Given the description of an element on the screen output the (x, y) to click on. 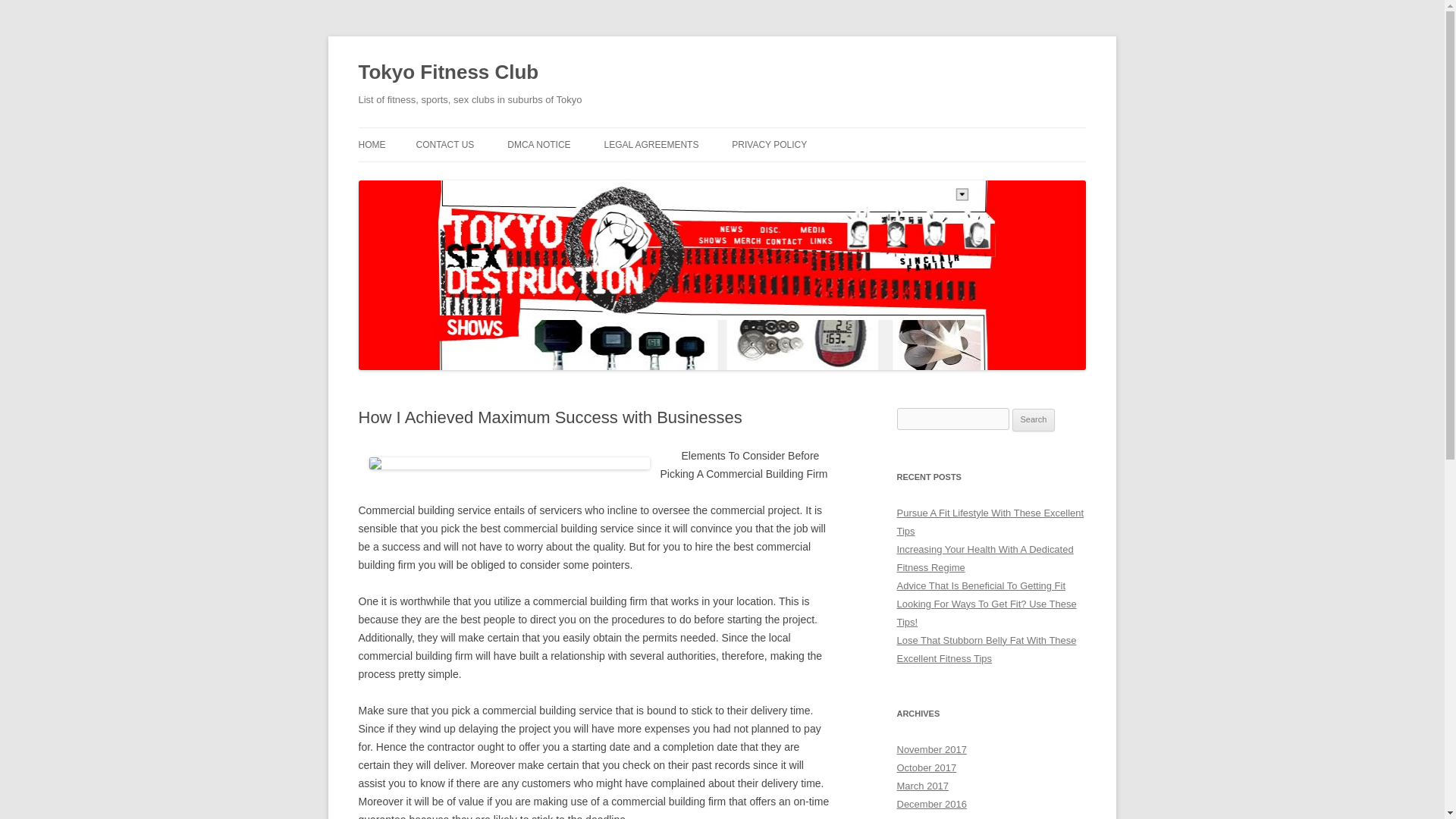
Increasing Your Health With A Dedicated Fitness Regime (984, 558)
Advice That Is Beneficial To Getting Fit (980, 585)
October 2017 (926, 767)
March 2017 (922, 785)
Search (1033, 419)
October 2014 (926, 817)
CONTACT US (444, 144)
Skip to content (757, 132)
Pursue A Fit Lifestyle With These Excellent Tips (989, 521)
Tokyo Fitness Club (448, 72)
